Given the description of an element on the screen output the (x, y) to click on. 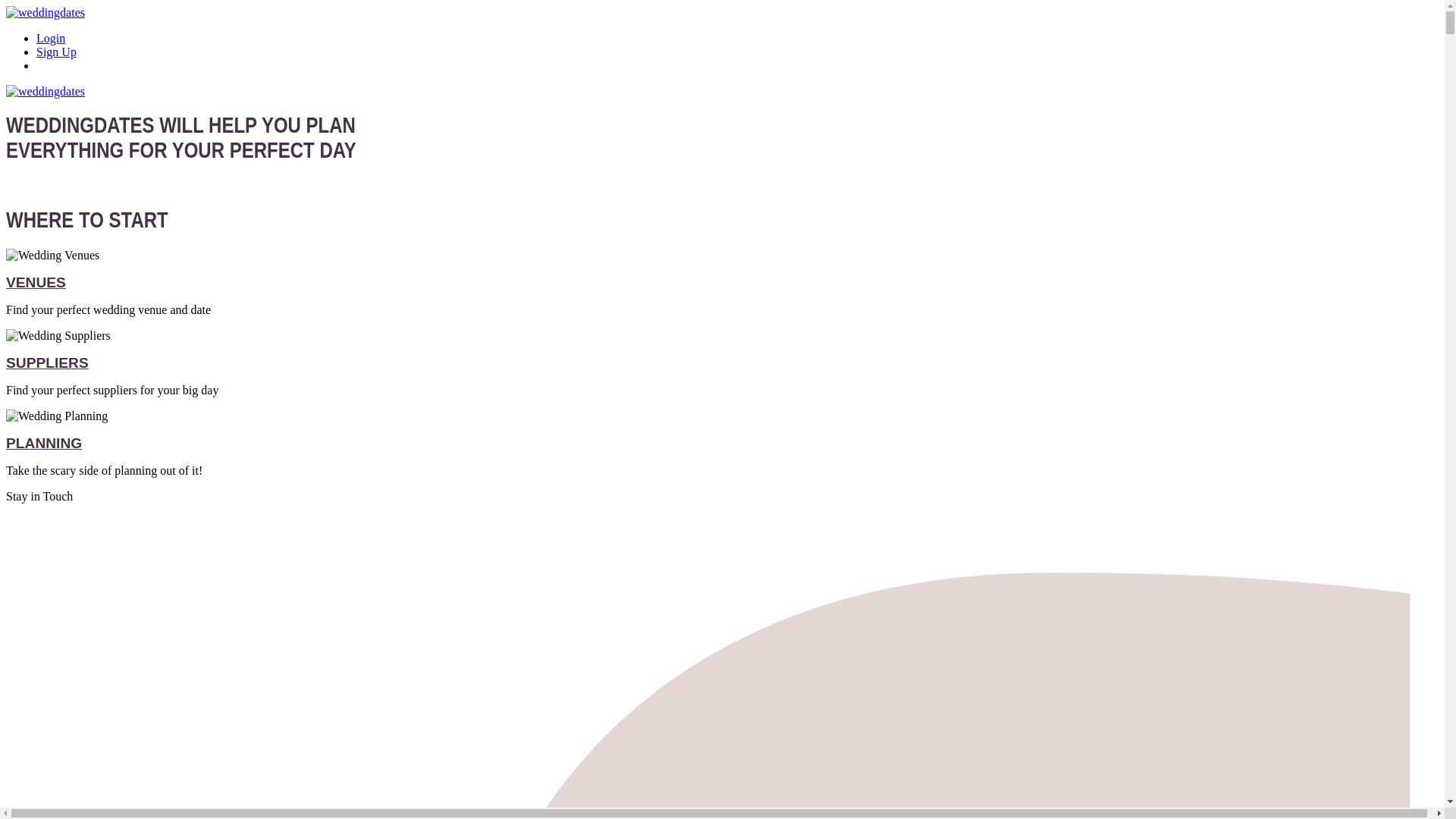
weddingdates (44, 91)
Login (50, 38)
weddingdates (44, 12)
SUPPLIERS (46, 362)
PLANNING (43, 442)
Sign Up (56, 51)
VENUES (35, 282)
